Given the description of an element on the screen output the (x, y) to click on. 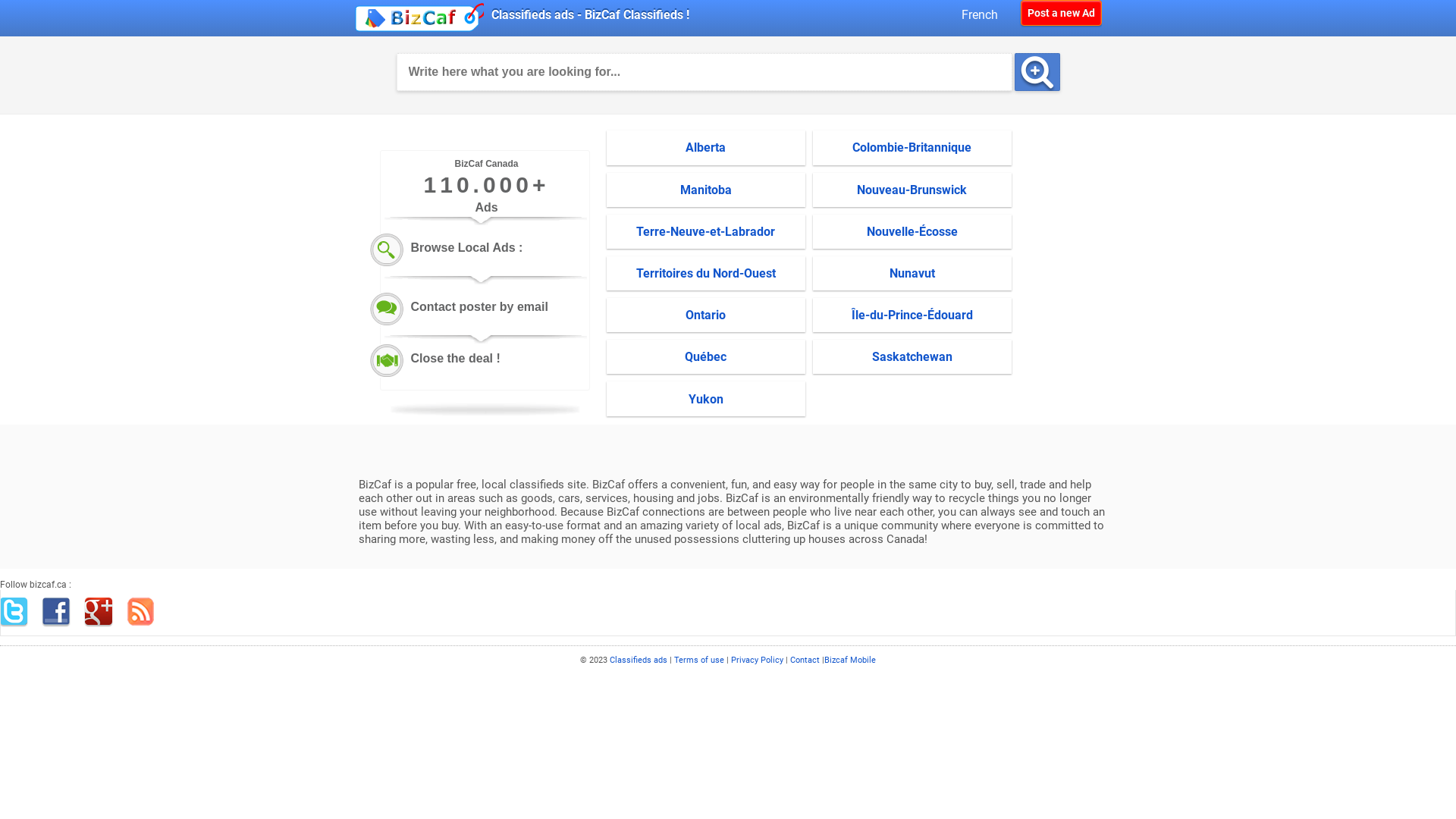
French Element type: text (987, 14)
  Element type: text (1037, 72)
Alberta Element type: text (705, 147)
Manitoba Element type: text (705, 189)
Facebook Element type: text (56, 612)
Manitoba Element type: text (705, 189)
Colombie-Britannique Element type: text (911, 147)
Nouveau-Brunswick Element type: text (911, 189)
Contact Element type: text (804, 659)
Bizcaf Mobile Element type: text (849, 659)
Terre-Neuve-et-Labrador Element type: text (705, 231)
Terms of use Element type: text (699, 659)
Nunavut Element type: text (911, 273)
Classifieds ads Element type: text (639, 659)
Yukon Element type: text (705, 399)
Terre-Neuve-et-Labrador Element type: text (705, 231)
Nunavut Element type: text (911, 273)
Ontario Element type: text (705, 315)
Ontario Element type: text (705, 314)
RSS Element type: text (141, 612)
Territoires du Nord-Ouest Element type: text (705, 273)
Alberta Element type: text (705, 147)
Privacy Policy Element type: text (757, 659)
Colombie-Britannique Element type: text (911, 147)
Google+ Element type: text (99, 612)
Saskatchewan Element type: text (912, 356)
Saskatchewan Element type: text (911, 356)
Territoires du Nord-Ouest Element type: text (705, 273)
Yukon Element type: text (705, 398)
Nouveau-Brunswick Element type: text (911, 189)
